Given the description of an element on the screen output the (x, y) to click on. 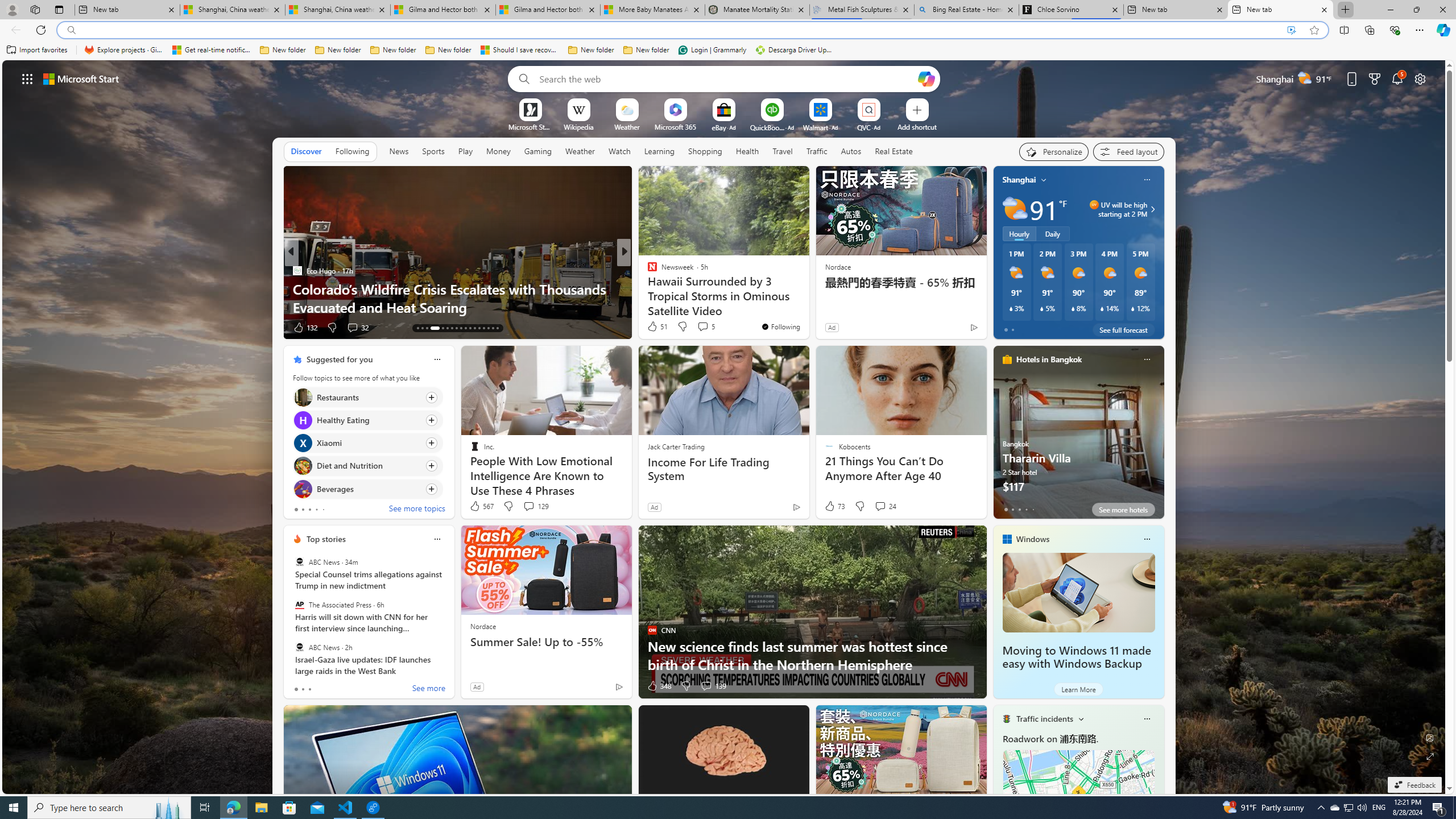
Page settings (1420, 78)
AutomationID: tab-17 (417, 328)
Gaming (537, 151)
Shopping (705, 151)
Lifehacker (647, 270)
tab-1 (302, 689)
Partly sunny (1014, 208)
View comments 1 Comment (6, 327)
Manatee Mortality Statistics | FWC (756, 9)
